Given the description of an element on the screen output the (x, y) to click on. 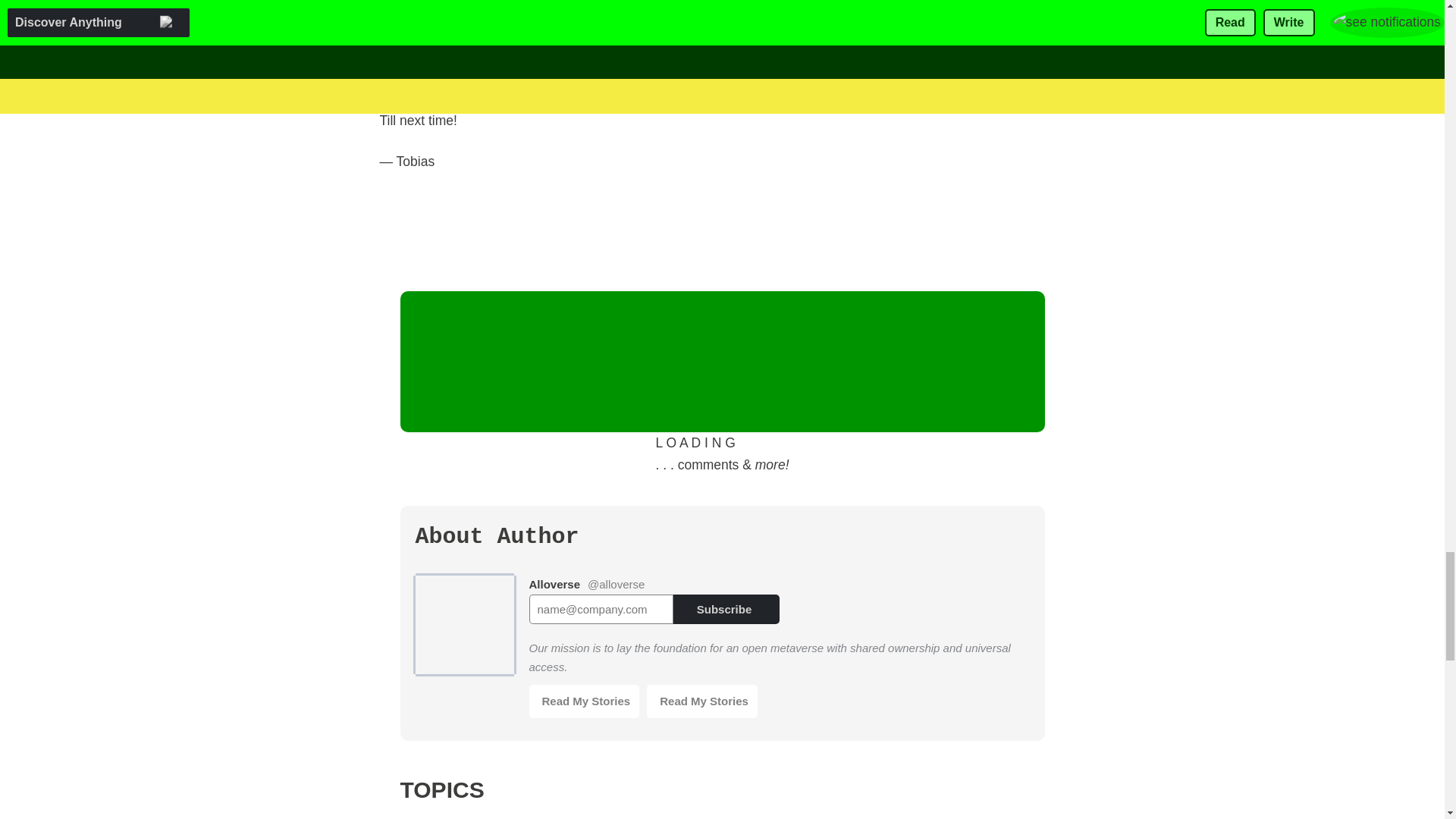
Discord (576, 78)
Read My Stories (584, 701)
Subscribe (725, 609)
Read My Stories (701, 701)
